Given the description of an element on the screen output the (x, y) to click on. 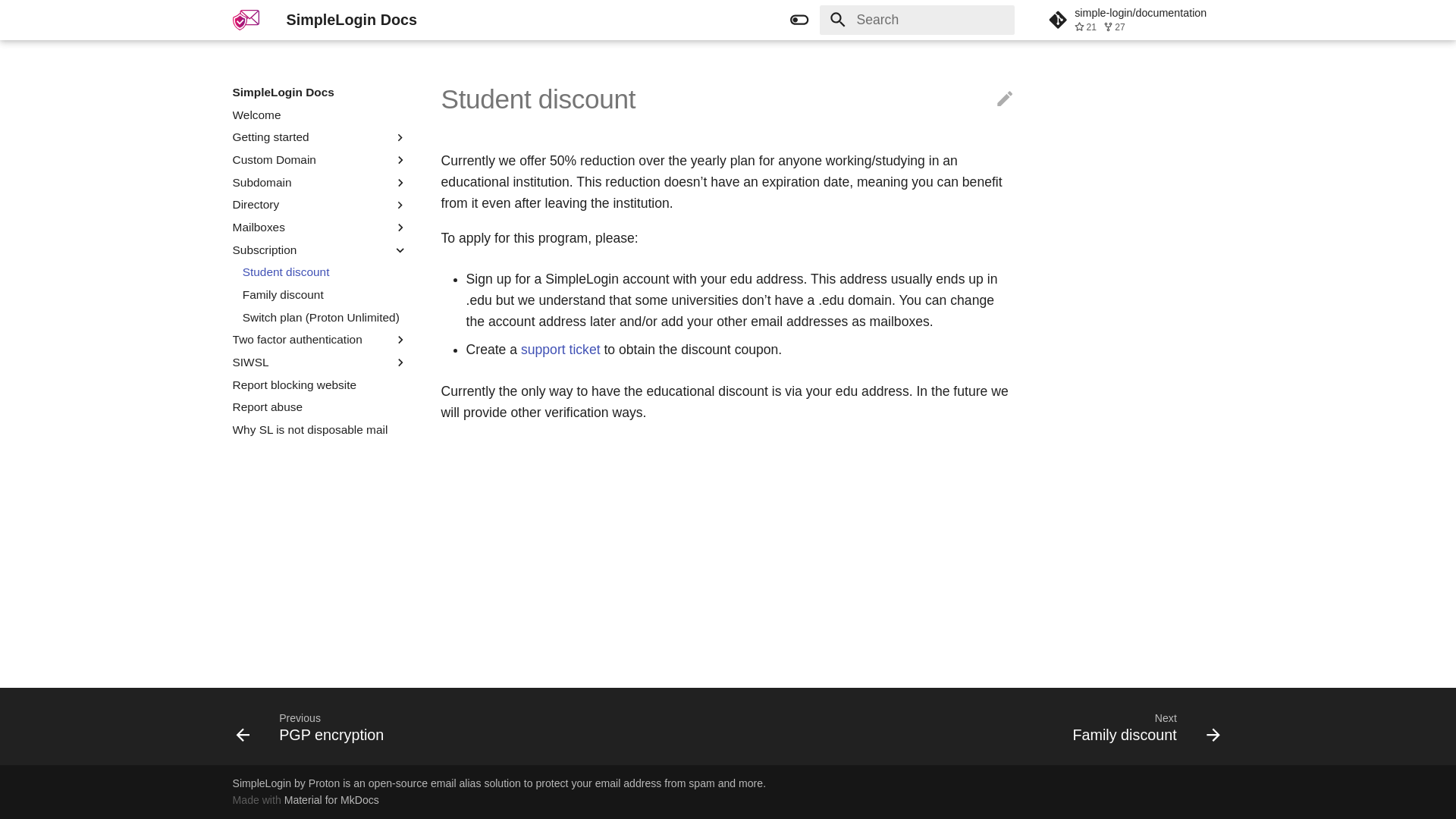
Student discount (325, 272)
SimpleLogin Docs (245, 19)
Family discount (325, 294)
Welcome (319, 114)
Go to repository (1135, 20)
Switch to dark mode (799, 19)
Edit this page (1004, 98)
